Given the description of an element on the screen output the (x, y) to click on. 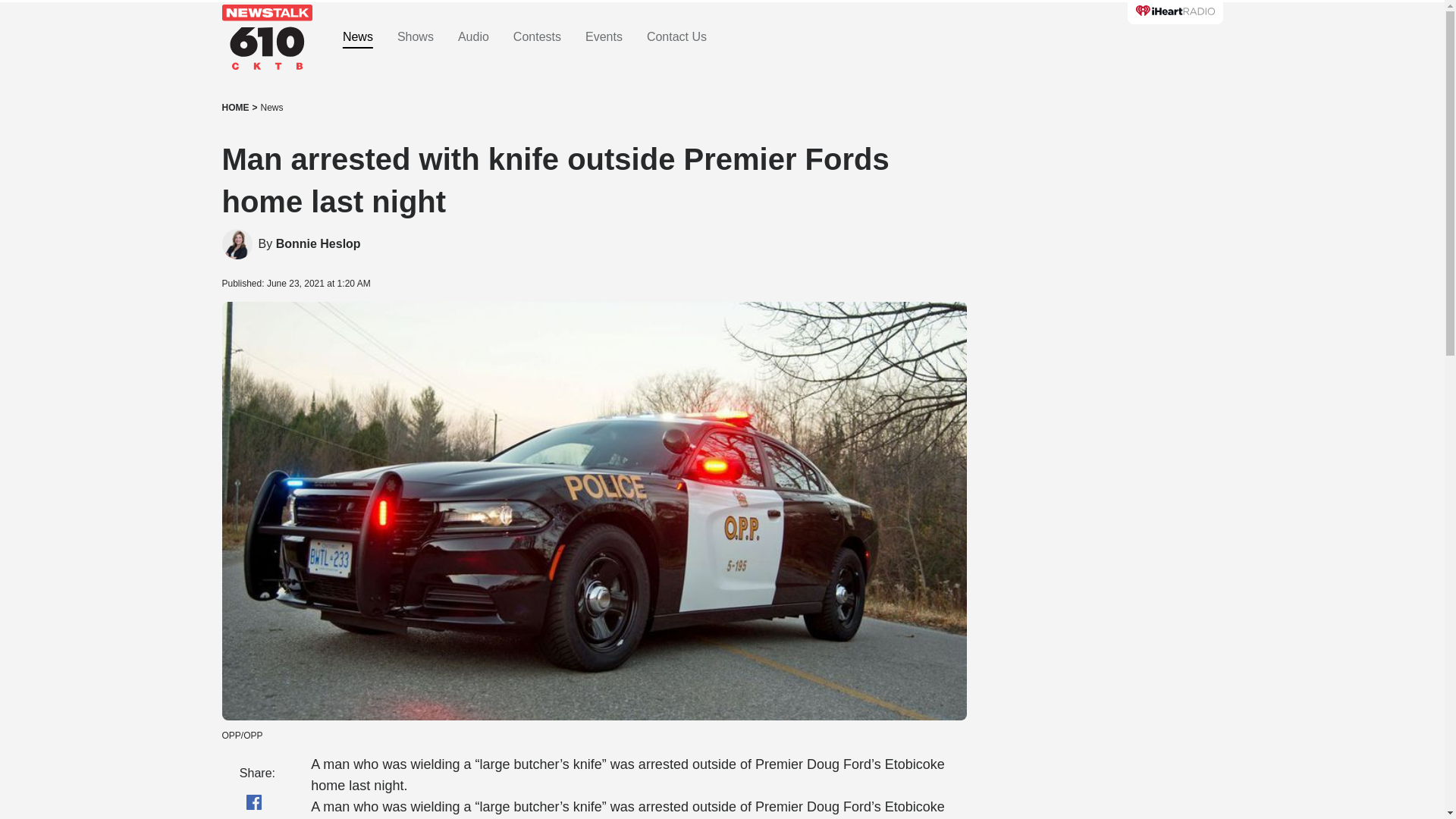
News (271, 107)
Bonnie Heslop (318, 243)
Contests (536, 37)
Bonnie  Heslop (236, 244)
HOME (234, 107)
Contact Us (676, 37)
Bonnie  Heslop (318, 243)
